Given the description of an element on the screen output the (x, y) to click on. 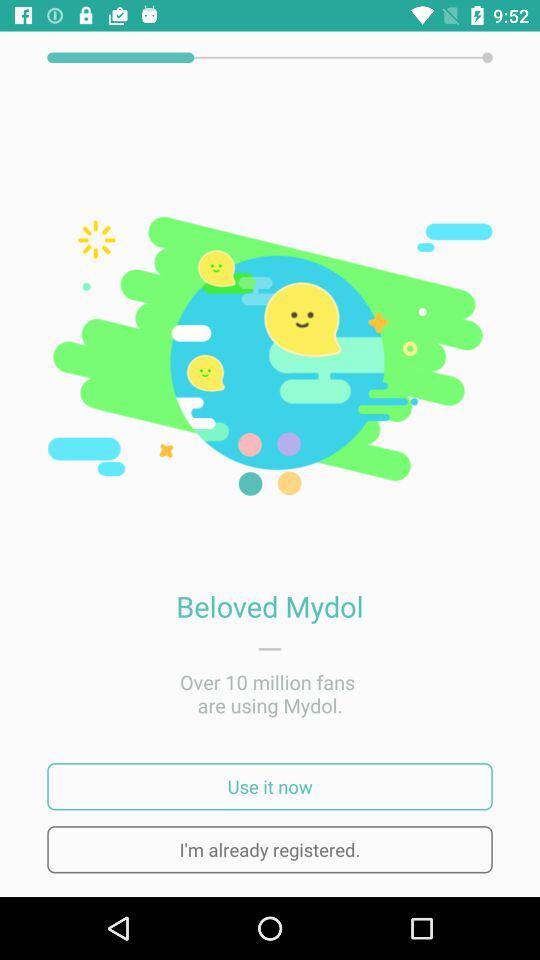
flip until the use it now (269, 786)
